Given the description of an element on the screen output the (x, y) to click on. 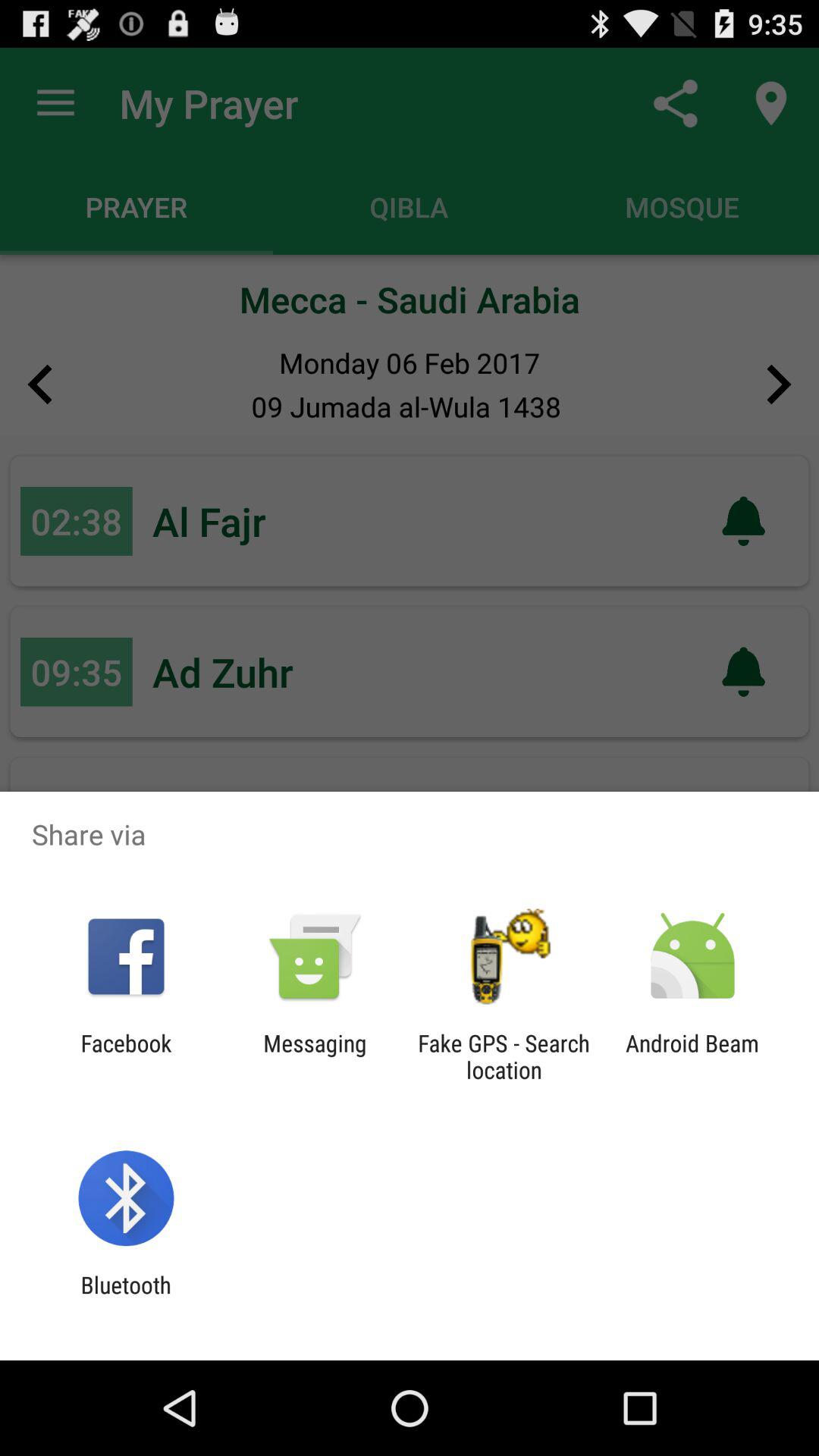
turn on the android beam at the bottom right corner (692, 1056)
